Given the description of an element on the screen output the (x, y) to click on. 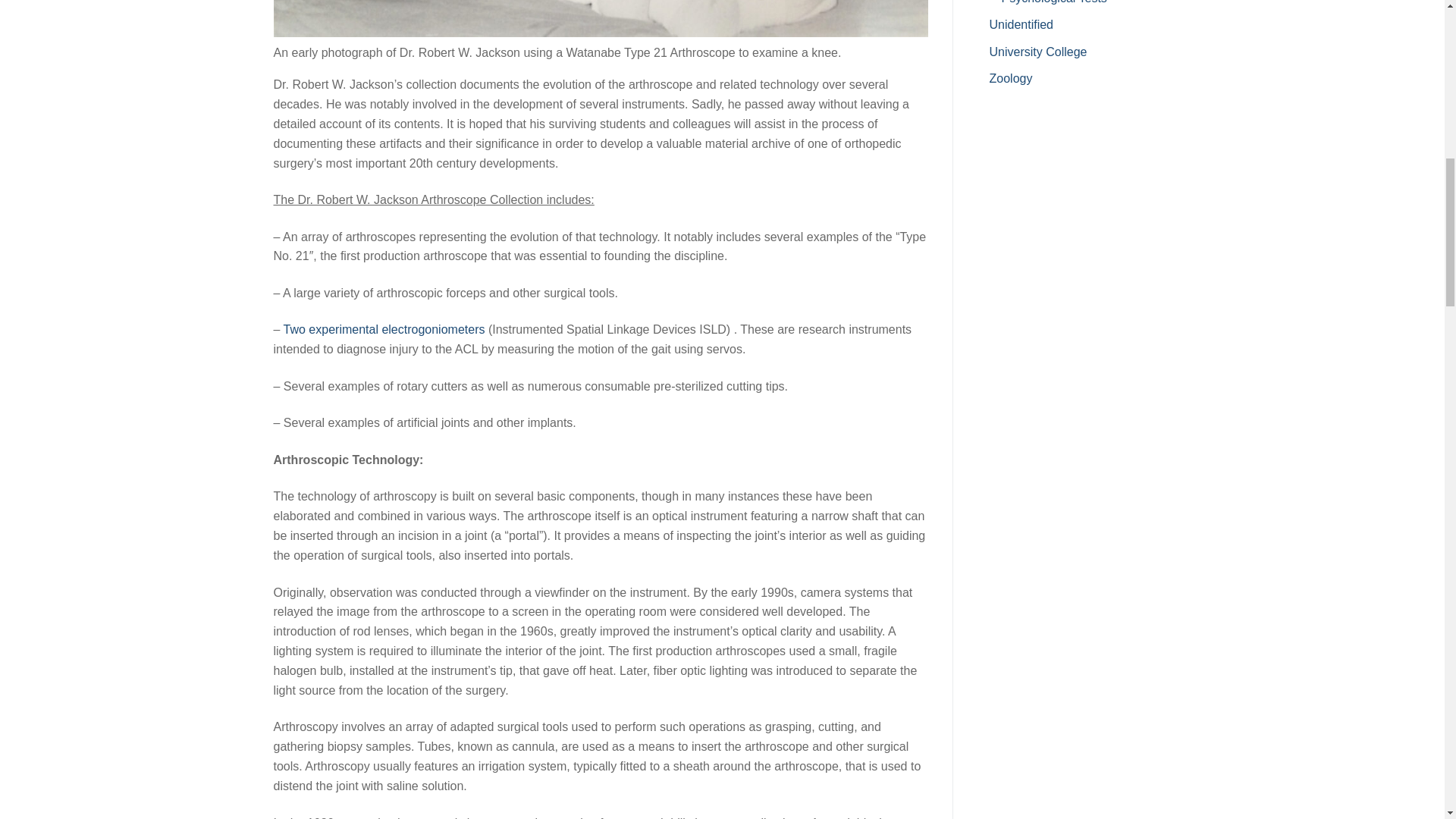
Two experimental electrogoniometers (383, 328)
